Given the description of an element on the screen output the (x, y) to click on. 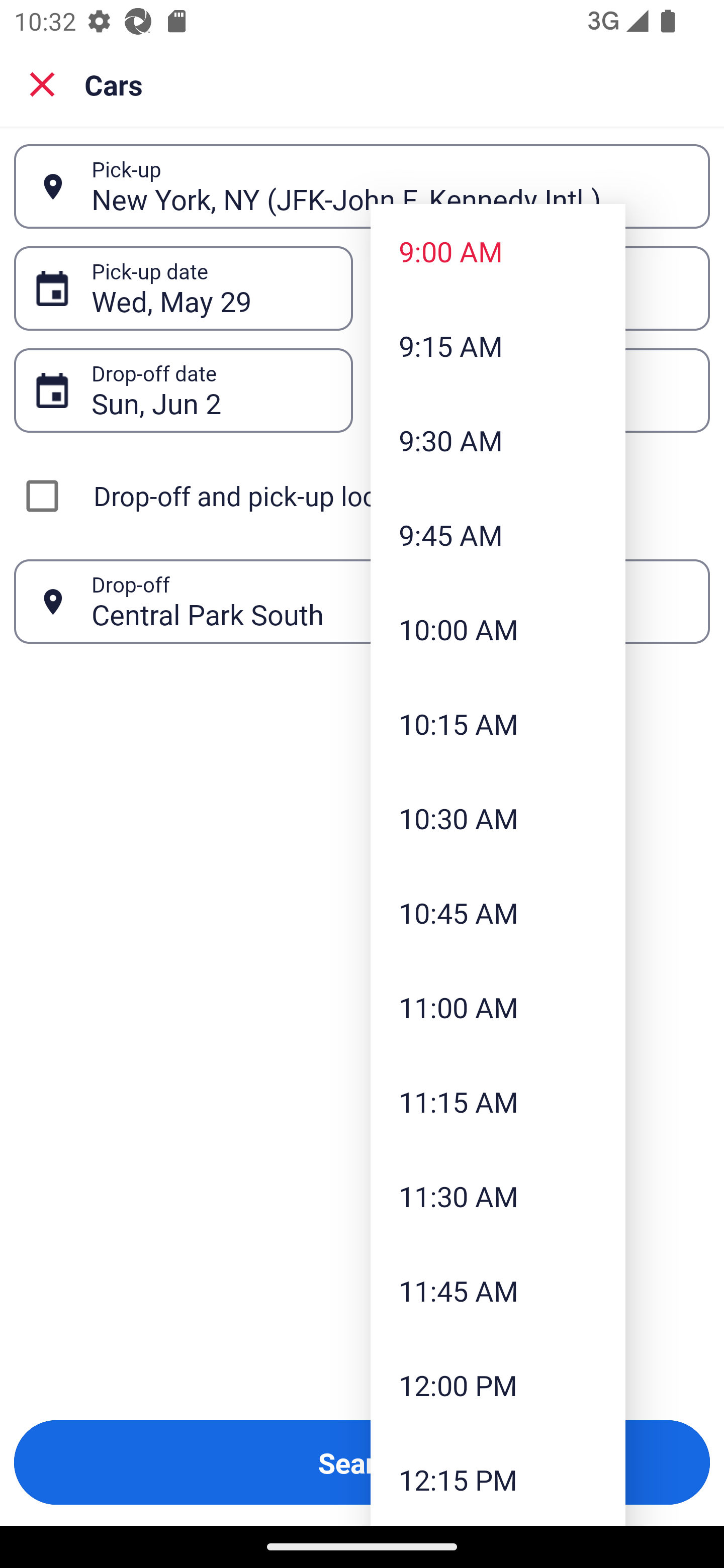
9:00 AM (497, 250)
9:15 AM (497, 345)
9:30 AM (497, 440)
9:45 AM (497, 534)
10:00 AM (497, 628)
10:15 AM (497, 723)
10:30 AM (497, 818)
10:45 AM (497, 912)
11:00 AM (497, 1006)
11:15 AM (497, 1101)
11:30 AM (497, 1196)
11:45 AM (497, 1290)
12:00 PM (497, 1384)
12:15 PM (497, 1478)
